Given the description of an element on the screen output the (x, y) to click on. 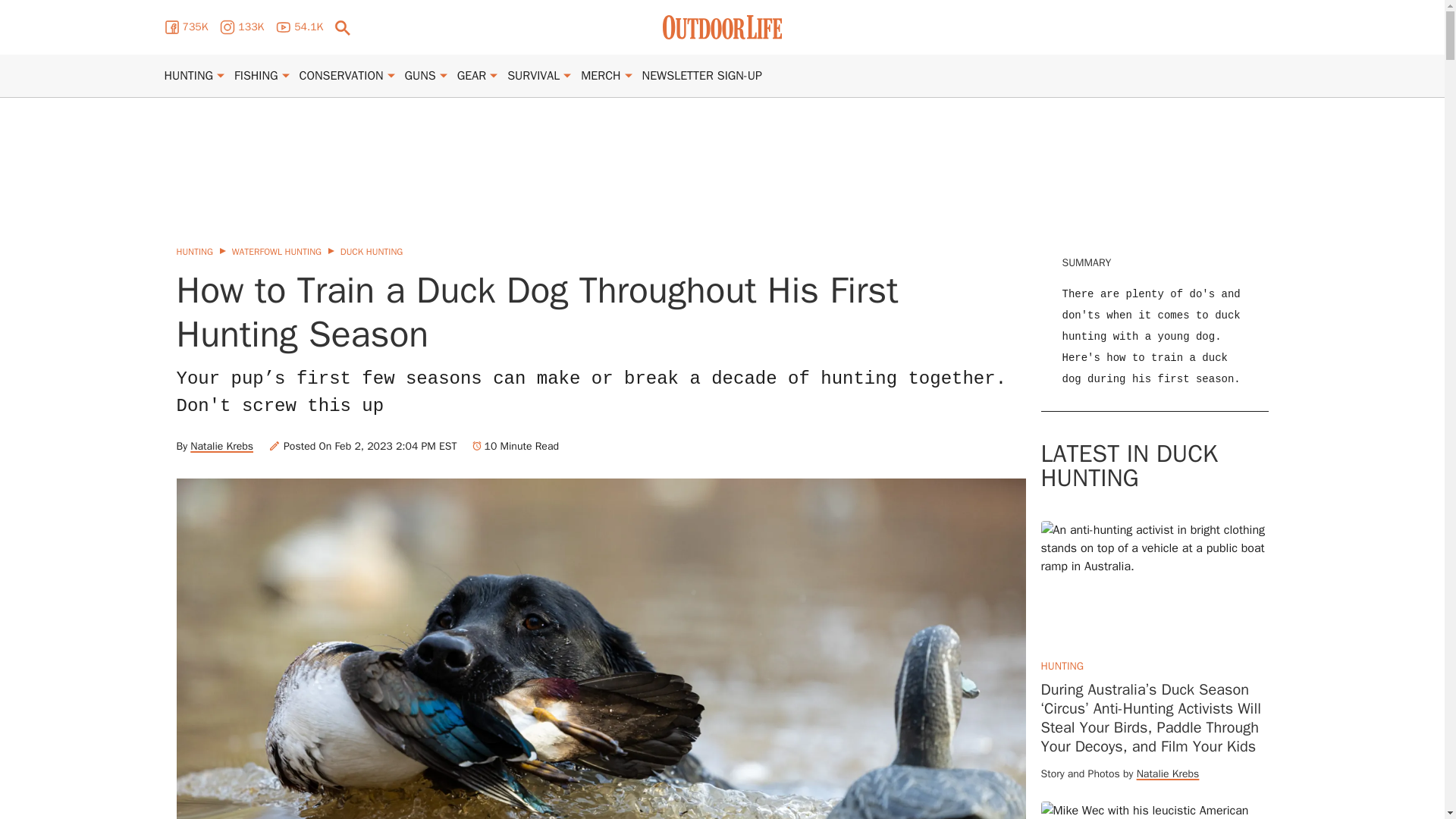
Gear (471, 75)
Newsletter Sign-up (701, 75)
Merch (600, 75)
Hunting (187, 75)
Guns (419, 75)
Fishing (256, 75)
Survival (532, 75)
Conservation (341, 75)
